Given the description of an element on the screen output the (x, y) to click on. 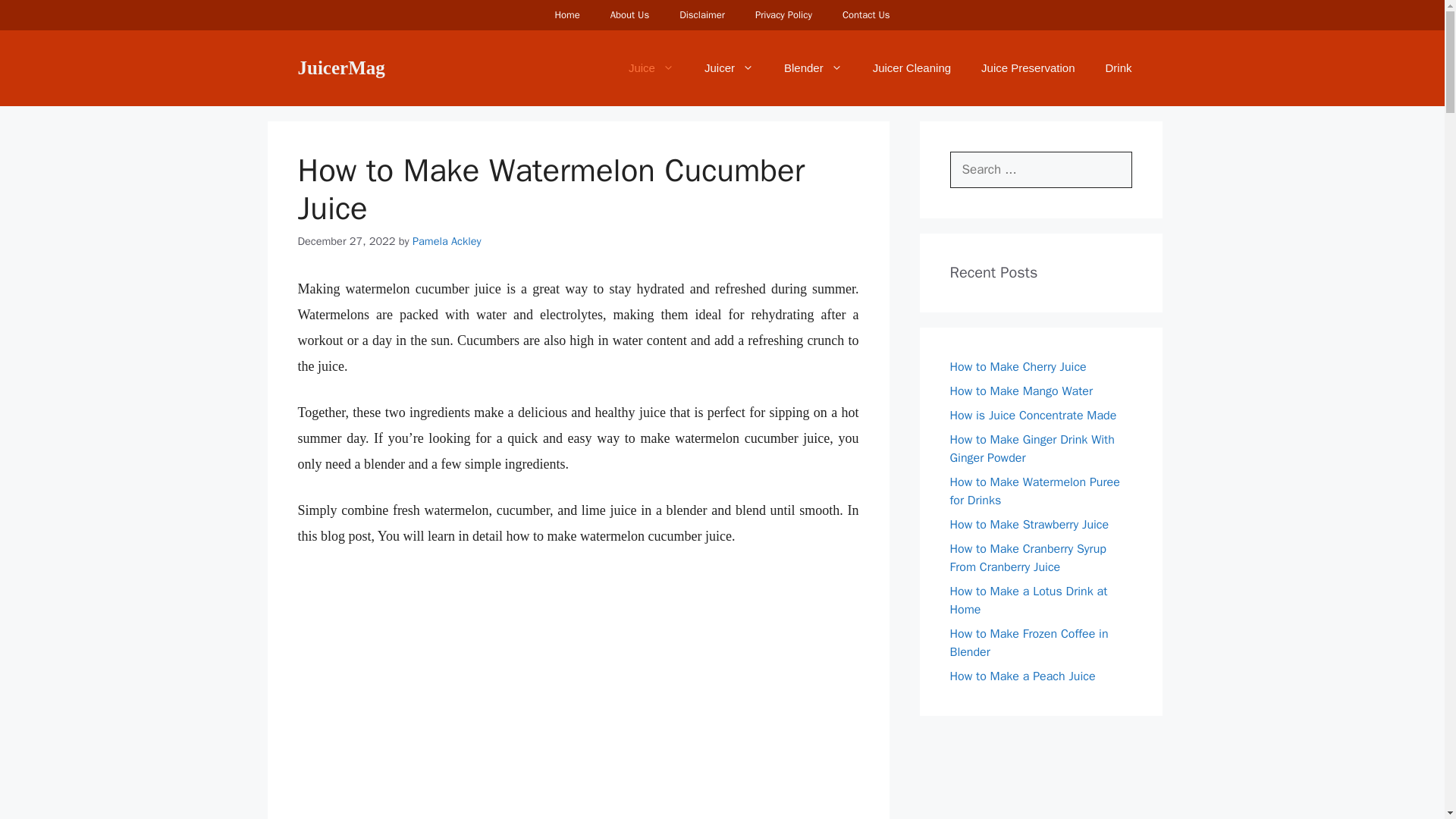
Juicer Cleaning (911, 67)
Contact Us (866, 15)
Home (566, 15)
JuicerMag (340, 67)
How to Make Cherry Juice (1017, 366)
How is Juice Concentrate Made (1032, 415)
Drink (1118, 67)
Juice (650, 67)
Juice Preservation (1027, 67)
View all posts by Pamela Ackley (446, 241)
Juicer (728, 67)
About Us (629, 15)
How to Make Mango Water (1021, 391)
Pamela Ackley (446, 241)
Privacy Policy (783, 15)
